Given the description of an element on the screen output the (x, y) to click on. 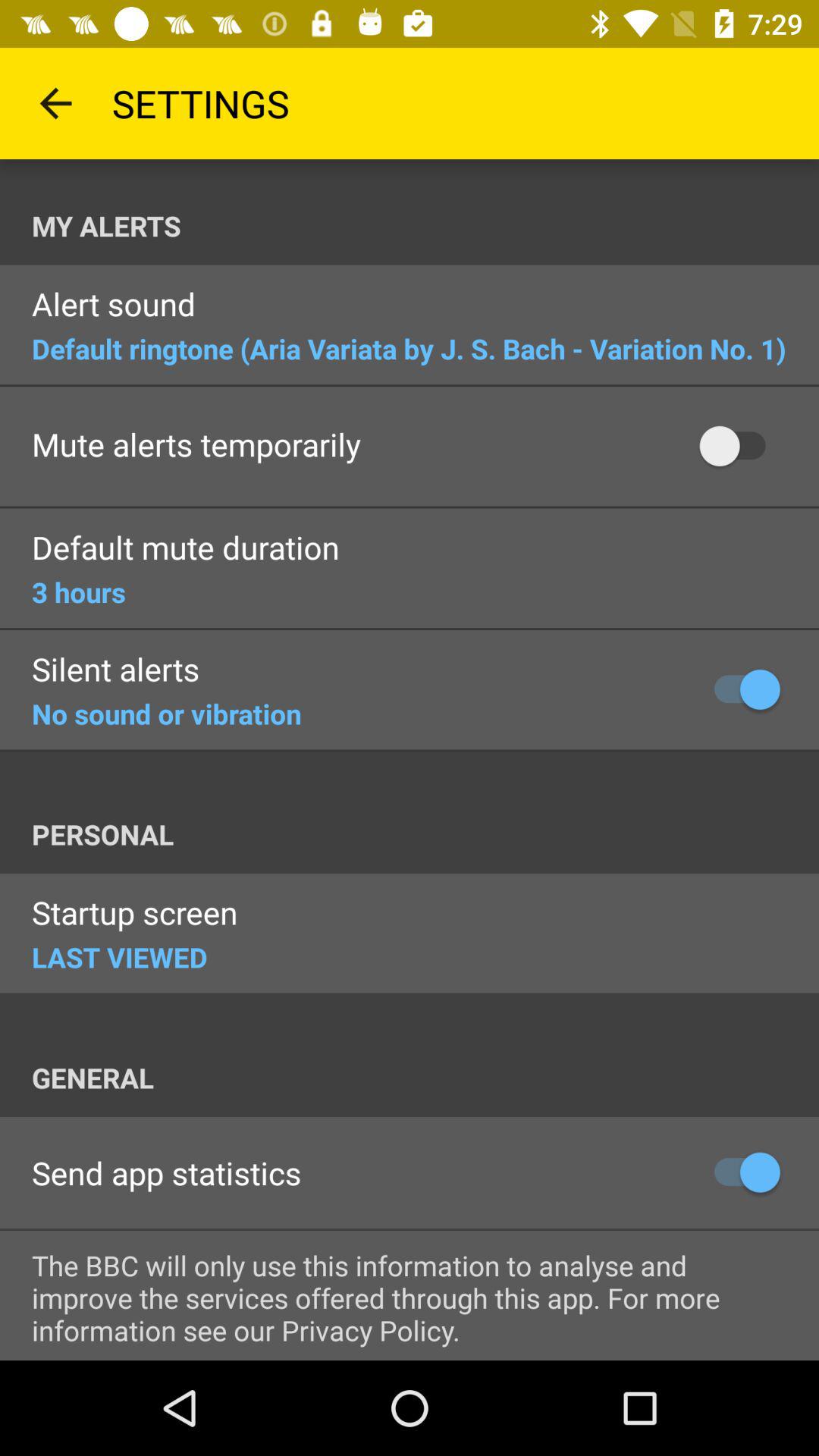
press the settings item (200, 103)
